Given the description of an element on the screen output the (x, y) to click on. 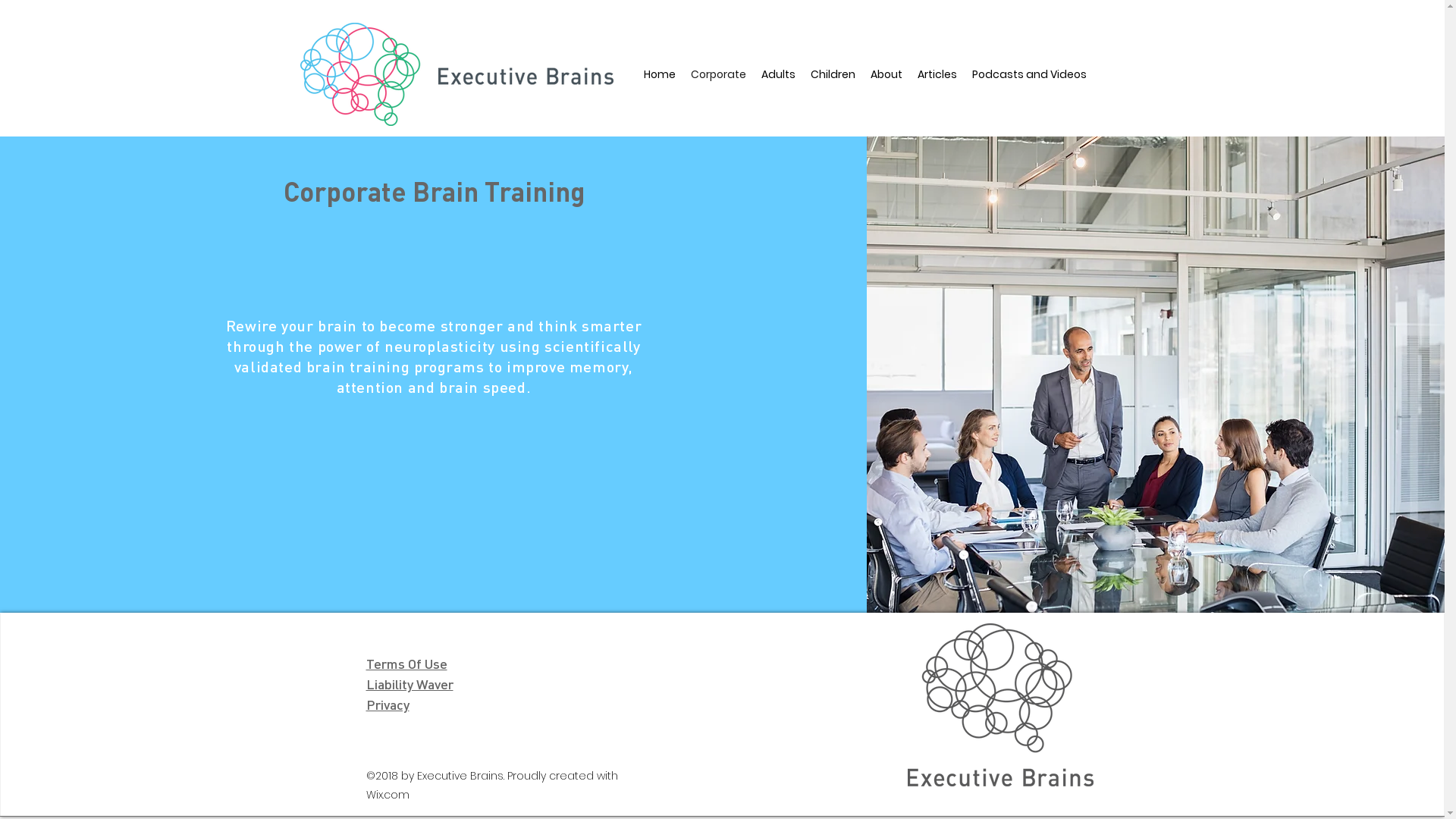
Children Element type: text (832, 73)
Podcasts and Videos Element type: text (1029, 73)
Privacy Element type: text (386, 703)
About Element type: text (886, 73)
Articles Element type: text (937, 73)
Adults Element type: text (778, 73)
Home Element type: text (658, 73)
Terms Of Use Element type: text (405, 662)
Liability Waver Element type: text (408, 683)
Executive Brains Logo CMYK Landscape.png Element type: hover (456, 73)
Corporate Element type: text (717, 73)
